Given the description of an element on the screen output the (x, y) to click on. 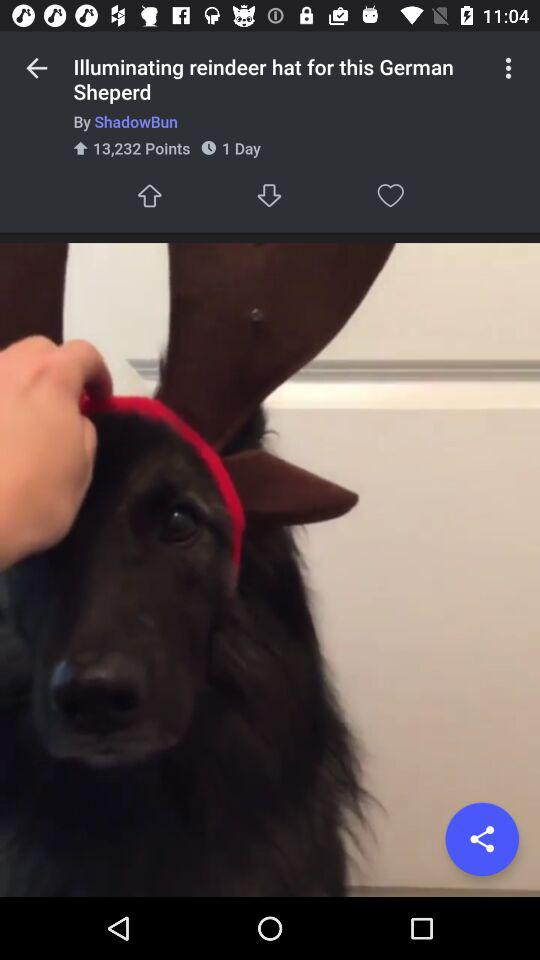
launch the icon below the illuminating reindeer hat item (278, 121)
